Given the description of an element on the screen output the (x, y) to click on. 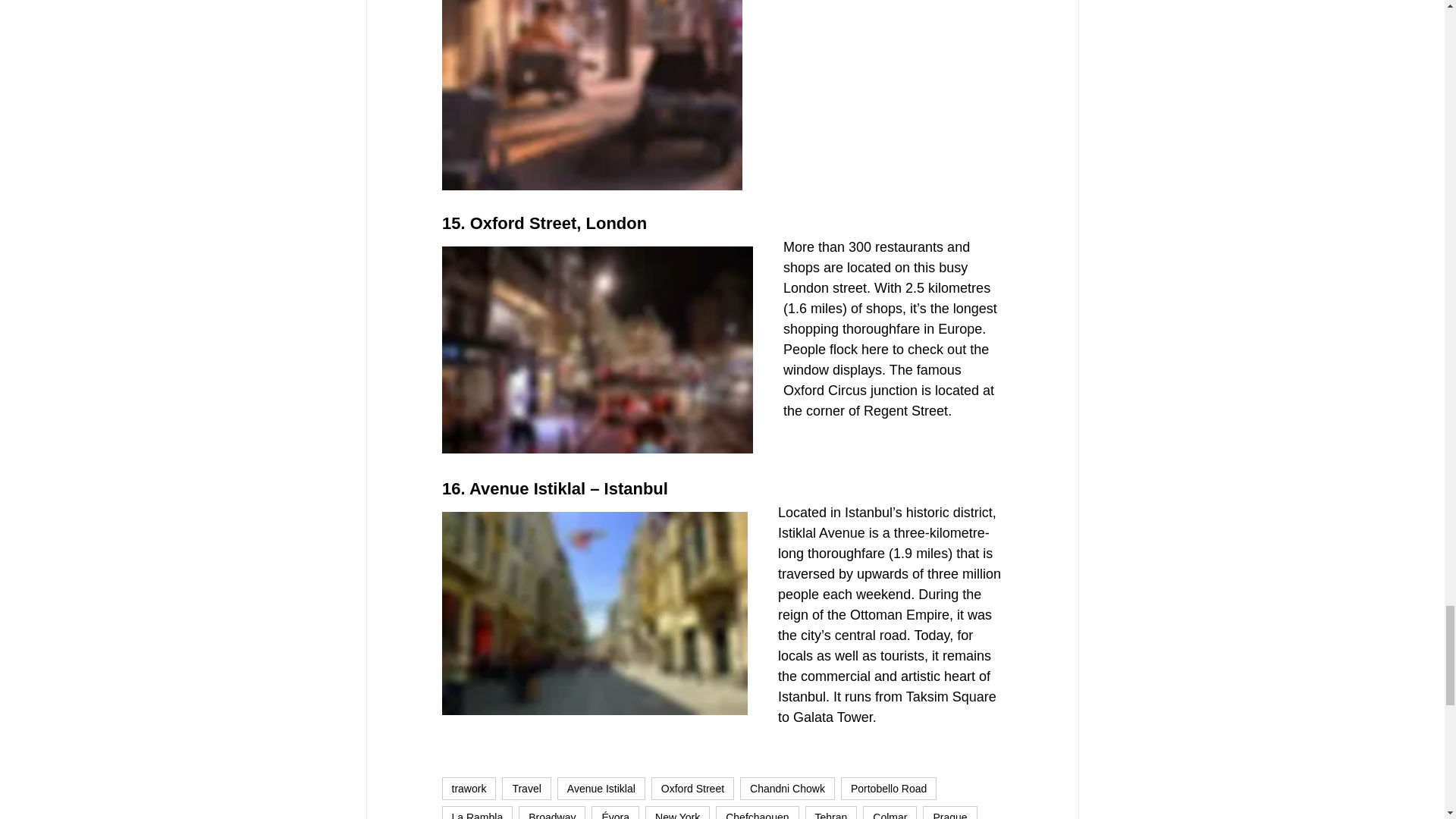
Oxford Street (691, 788)
Broadway (551, 812)
trawork (468, 788)
Chefchaouen (756, 812)
Portobello Road (888, 788)
Travel (526, 788)
Chandni Chowk (786, 788)
New York (677, 812)
Tehran (831, 812)
Colmar (890, 812)
La Rambla (476, 812)
Avenue Istiklal (601, 788)
Prague (949, 812)
